Given the description of an element on the screen output the (x, y) to click on. 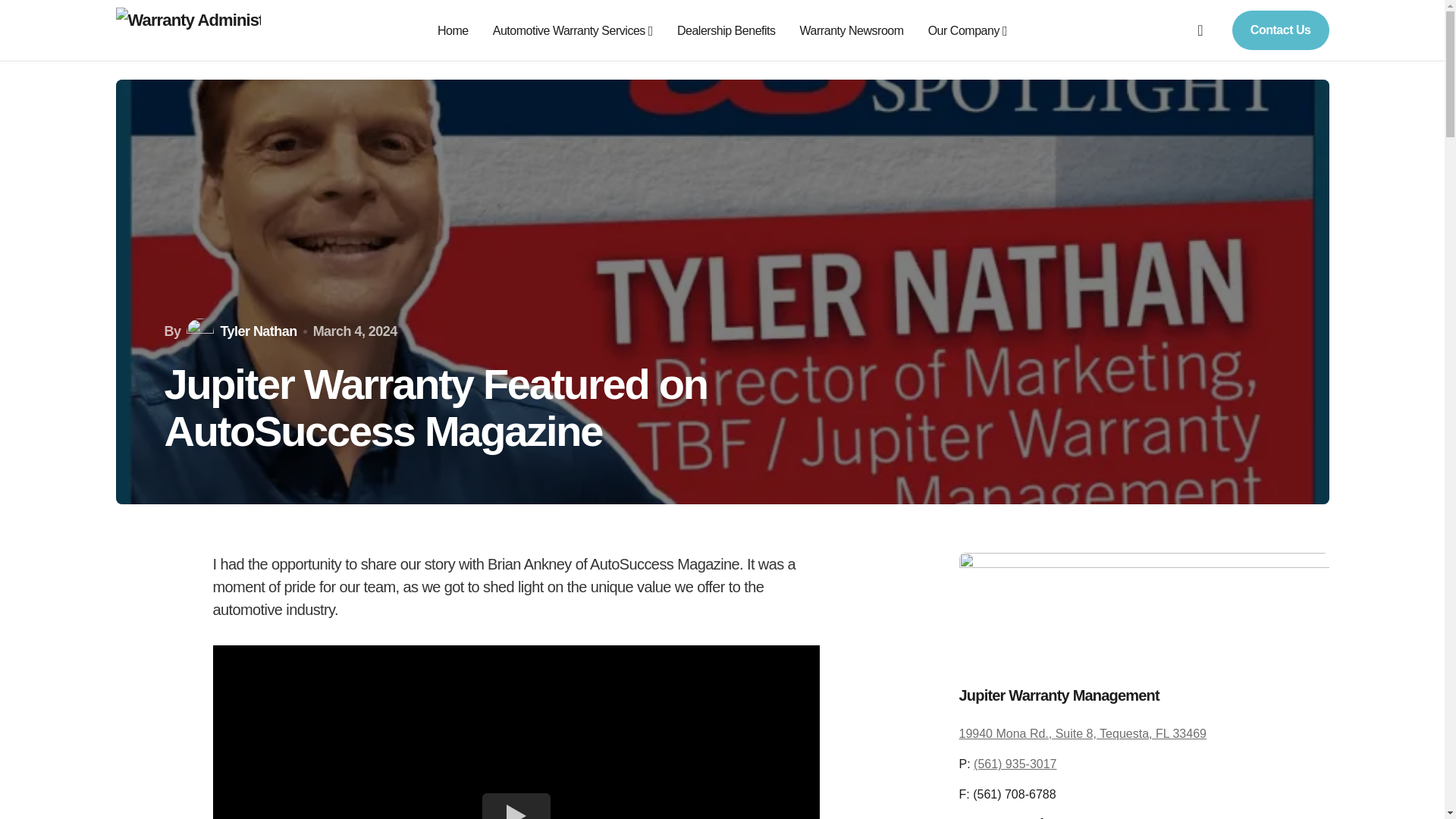
Our Company (967, 30)
Dealership Benefits (726, 30)
Warranty Newsroom (851, 30)
Automotive Warranty Services (572, 30)
